Given the description of an element on the screen output the (x, y) to click on. 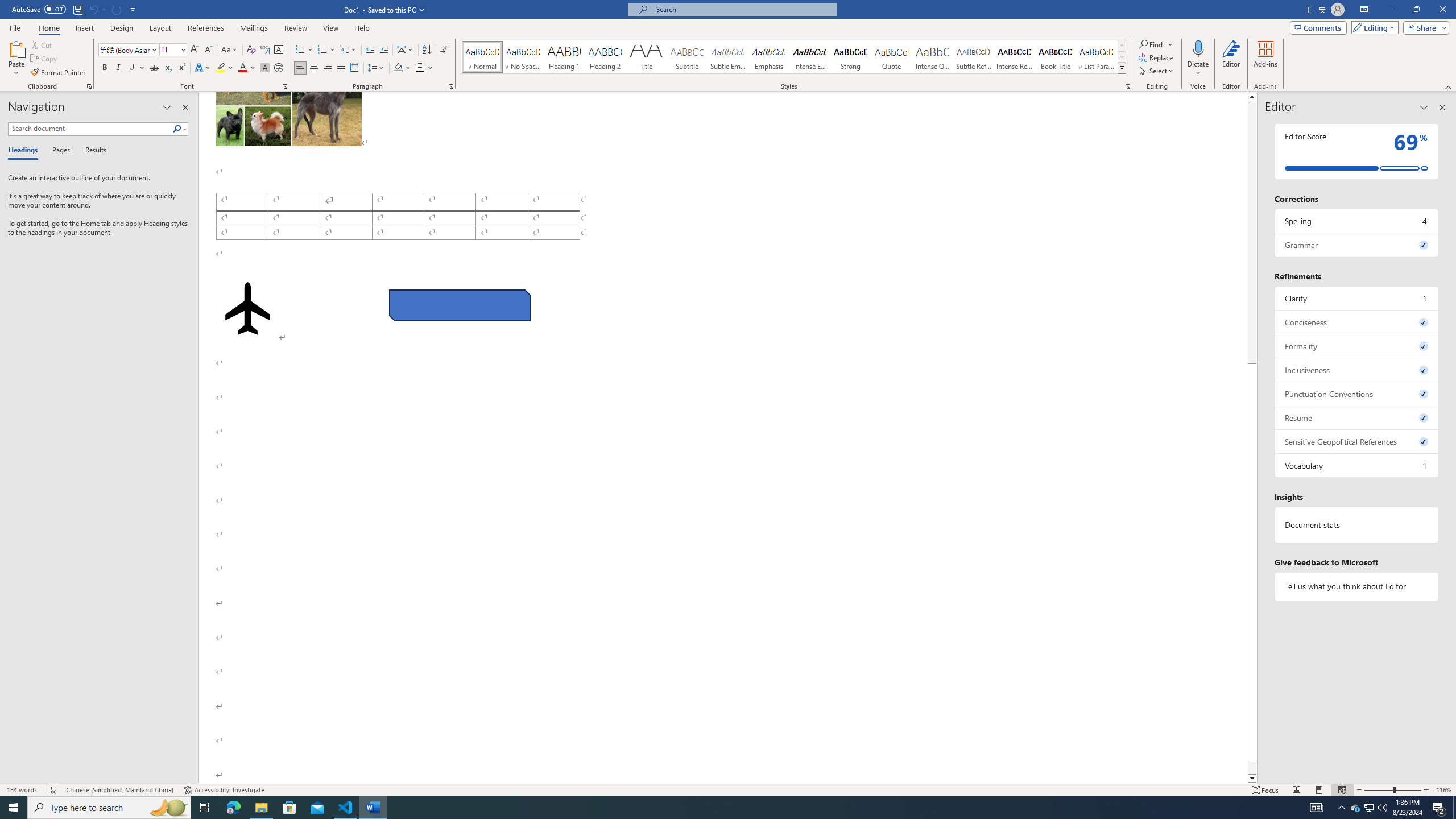
Spelling, 4 issues. Press space or enter to review items. (1356, 220)
Can't Undo (96, 9)
